Given the description of an element on the screen output the (x, y) to click on. 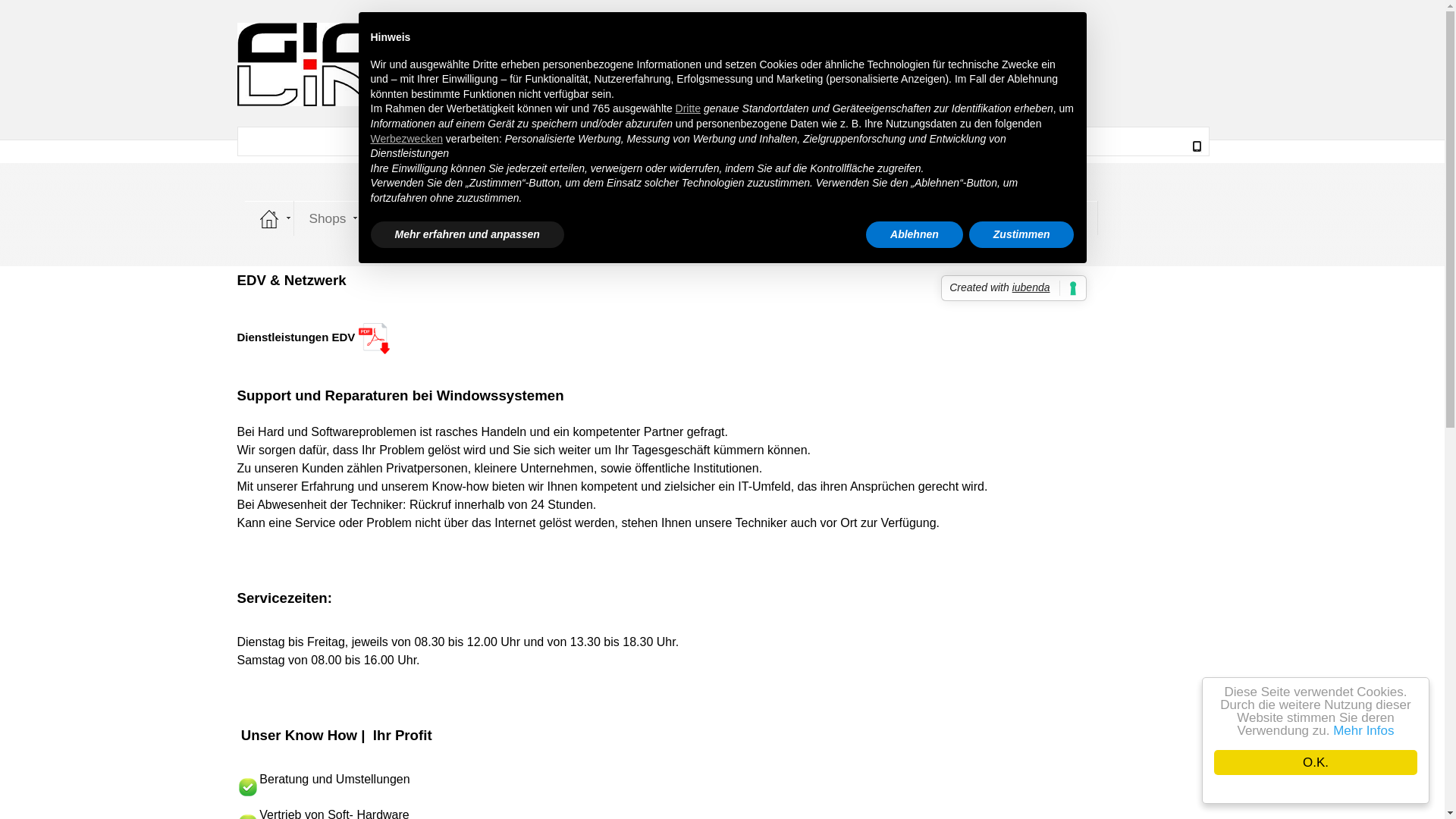
Created with iubenda Element type: text (1013, 288)
Dienstleistungen EDV  Element type: text (296, 336)
Fernwartung Element type: text (413, 217)
O.K. Element type: text (1315, 762)
Dienstleistungen Element type: text (529, 217)
Partner Element type: text (818, 217)
AGB Element type: text (884, 217)
Video Element type: text (946, 217)
Werbezwecken Element type: text (406, 138)
Mehr erfahren und anpassen Element type: text (466, 234)
Shops Element type: text (327, 217)
Zustimmen Element type: text (1021, 234)
Ablehnen Element type: text (914, 234)
Dritte Element type: text (687, 108)
Responsive Joomla Template Element type: hover (609, 64)
Serviceabos Element type: text (645, 217)
Mehr Infos Element type: text (1363, 730)
